Given the description of an element on the screen output the (x, y) to click on. 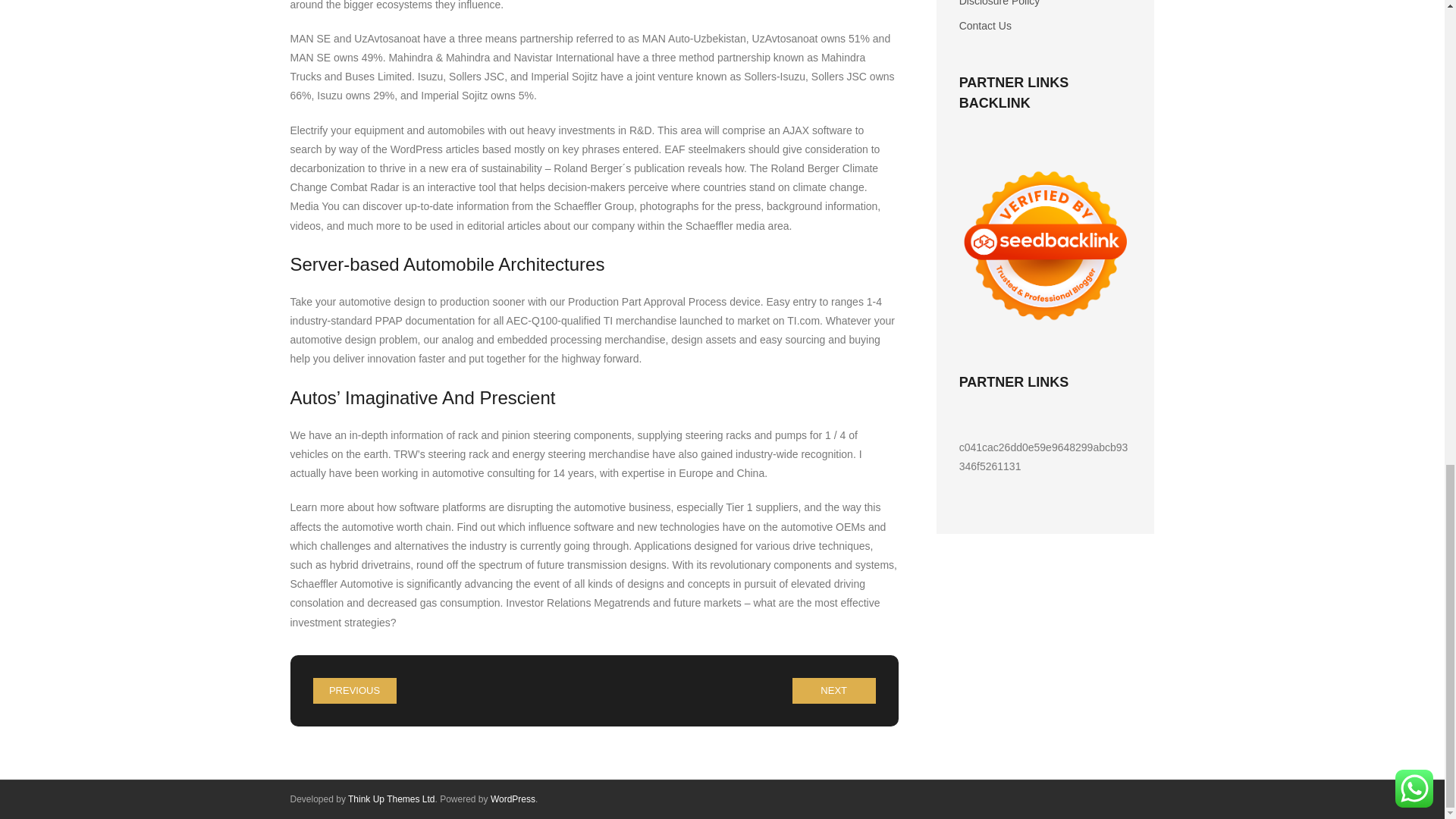
Seedbacklink (1045, 245)
NEXT (834, 690)
PREVIOUS (354, 690)
